Given the description of an element on the screen output the (x, y) to click on. 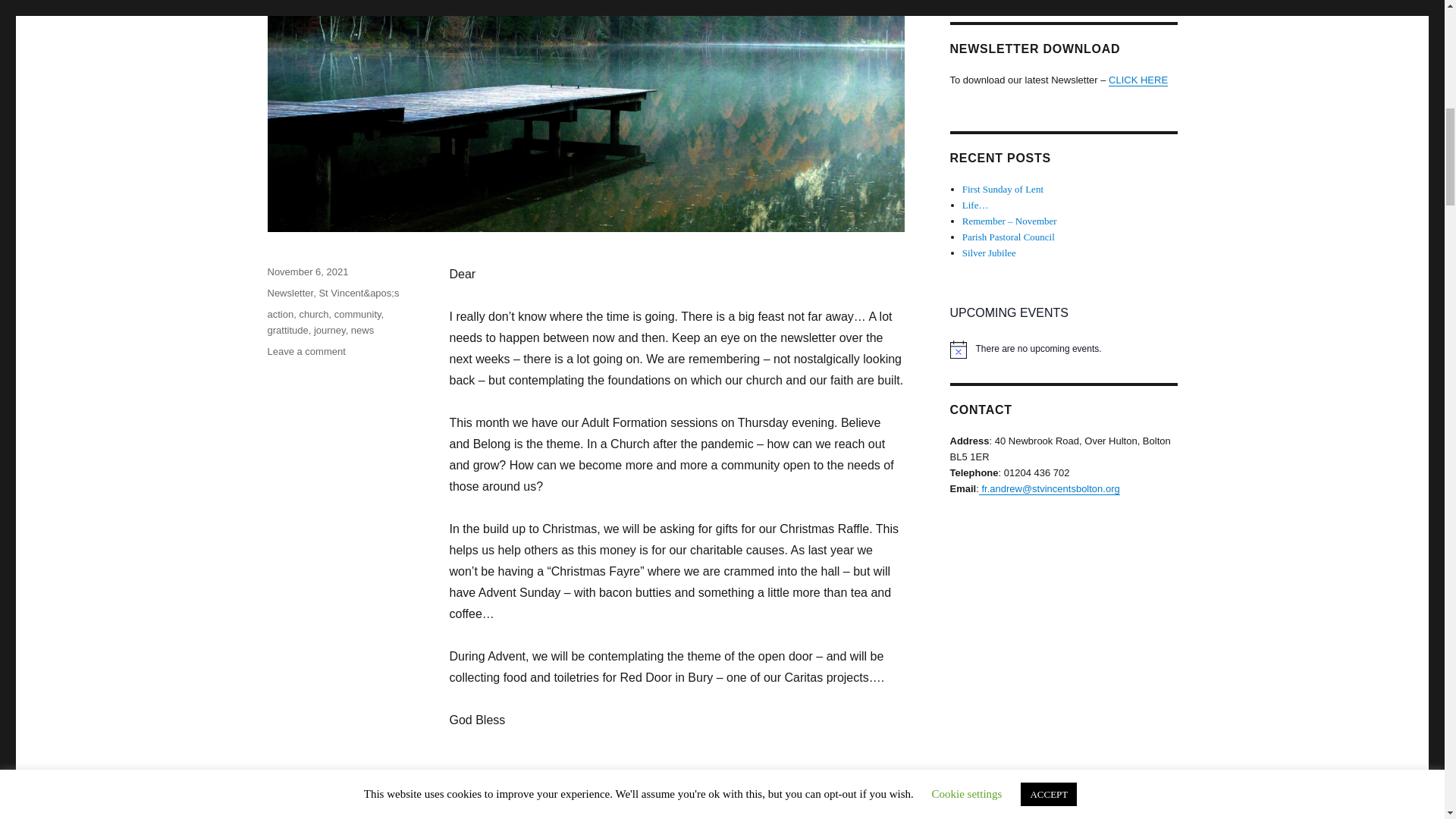
action (280, 314)
November 6, 2021 (306, 271)
church (313, 314)
Newsletter (289, 292)
community (357, 314)
journey (330, 329)
grattitude (286, 329)
news (362, 329)
